Given the description of an element on the screen output the (x, y) to click on. 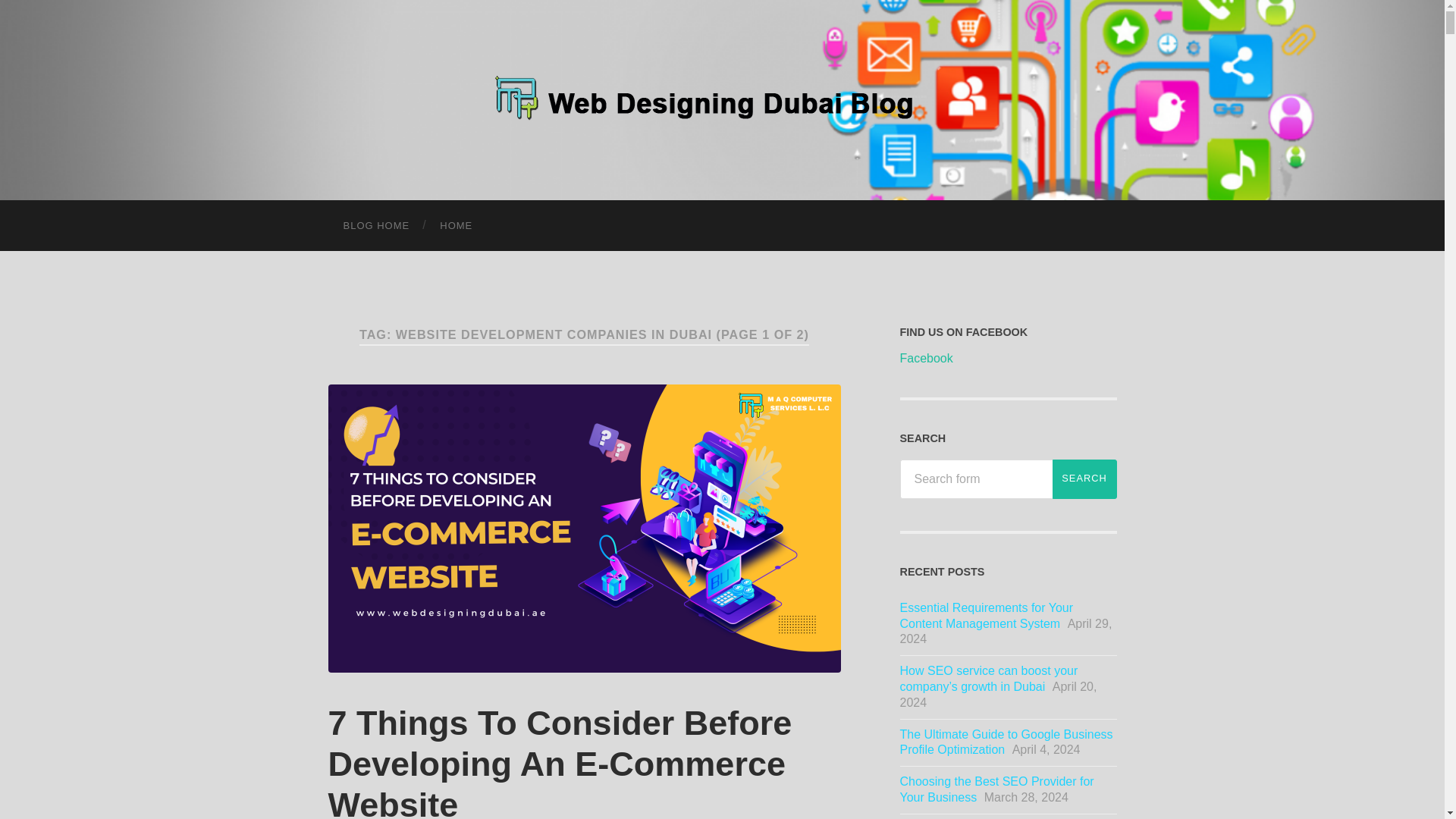
BLOG HOME (376, 224)
HOME (456, 224)
7 Things To Consider Before Developing An E-Commerce Website (559, 761)
Search (1084, 478)
7 Things To Consider Before Developing An E-Commerce Website (559, 761)
